Given the description of an element on the screen output the (x, y) to click on. 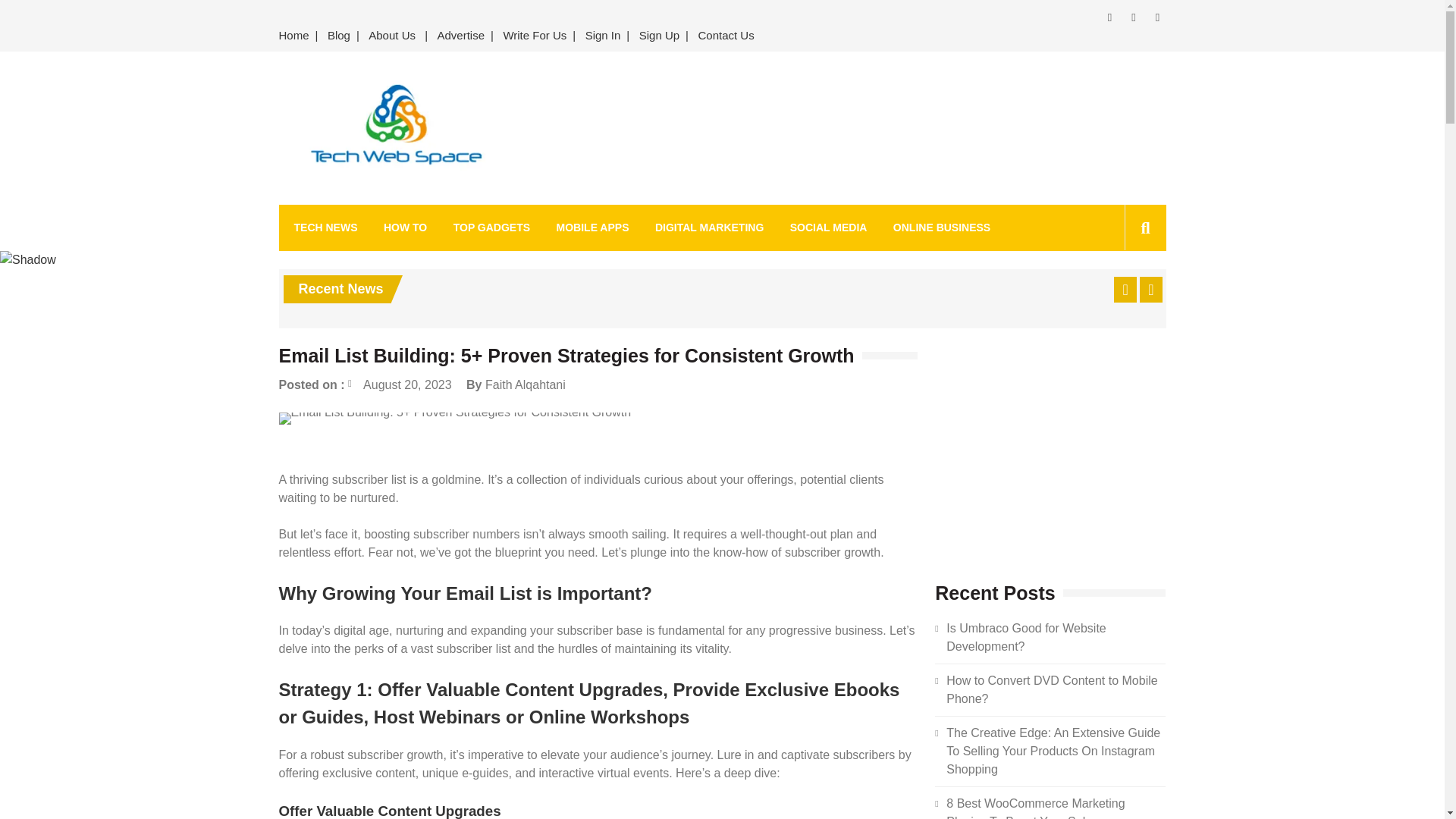
Home (297, 36)
About Us (392, 36)
Contact Us (725, 36)
Posts by Faith Alqahtani (525, 384)
Write For Us (534, 36)
Sign In (603, 36)
Advertise (460, 36)
Blog (338, 36)
Sign Up (659, 36)
